Given the description of an element on the screen output the (x, y) to click on. 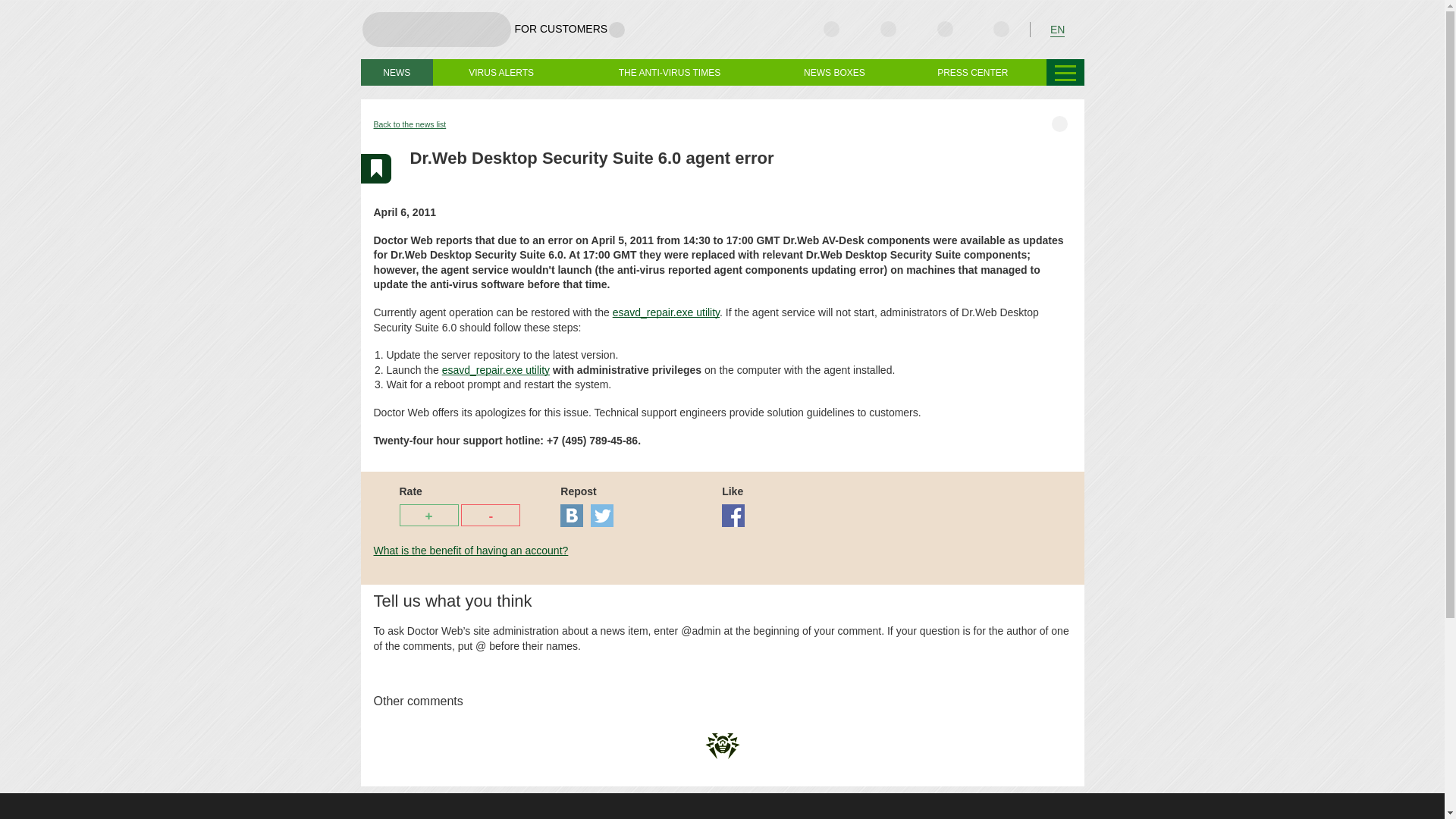
Other sections (1065, 71)
FOR CUSTOMERS (570, 28)
